Given the description of an element on the screen output the (x, y) to click on. 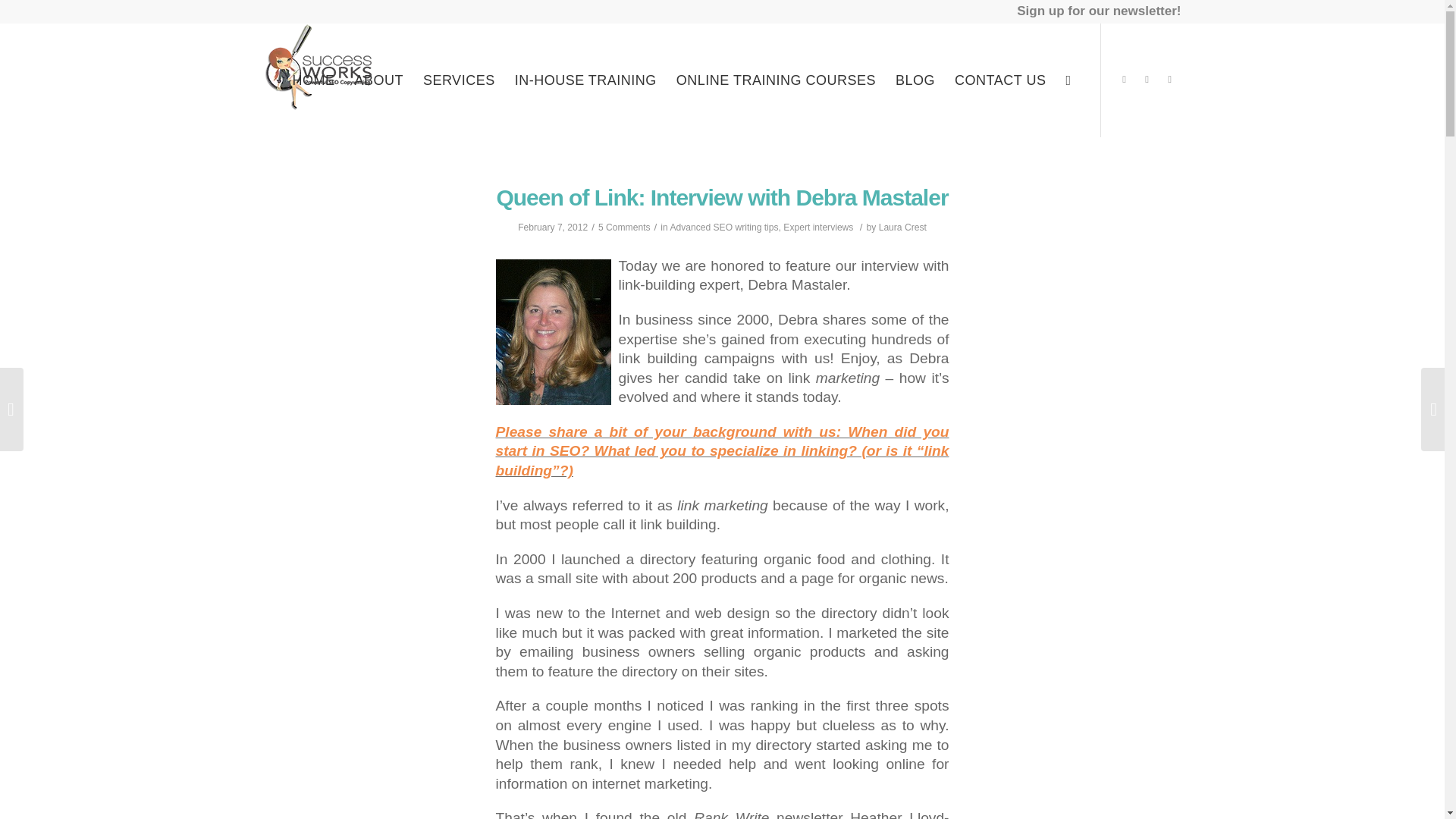
LinkedIn (1146, 78)
Facebook (1169, 78)
Posts by Laura Crest (902, 226)
Permanent Link: Queen of Link: Interview with Debra Mastaler (721, 197)
Twitter (1124, 78)
Laura Crest (902, 226)
Advanced SEO writing tips (723, 226)
CONTACT US (999, 80)
In-House Training (585, 80)
Online SEO Copywriting Courses (775, 80)
